Given the description of an element on the screen output the (x, y) to click on. 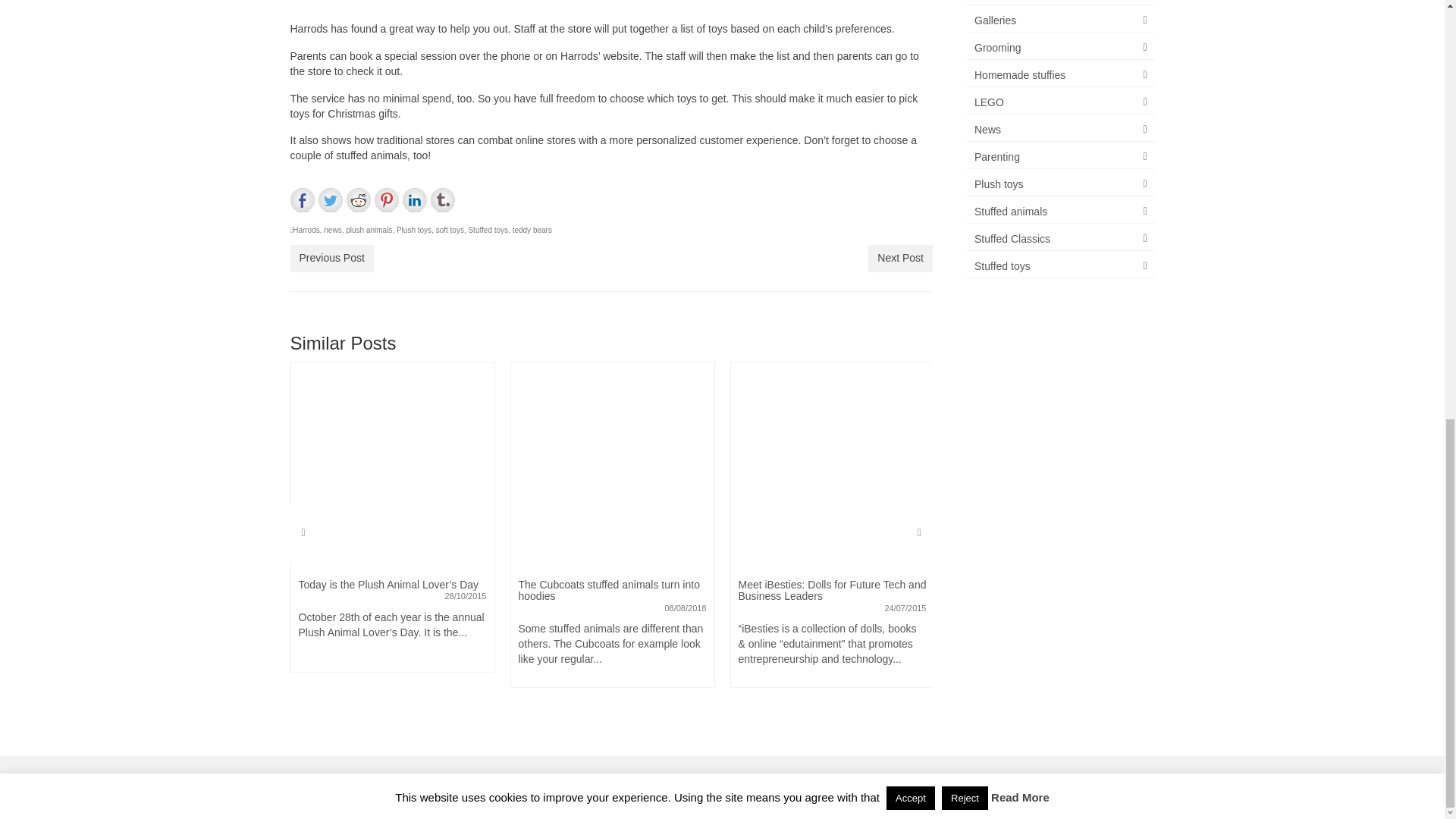
Pin it with Pinterest (386, 200)
Share on tumblr (442, 200)
Share on Linkedin (413, 200)
Share on Twitter (330, 200)
Share on Reddit (357, 200)
Share on Facebook (301, 200)
